Given the description of an element on the screen output the (x, y) to click on. 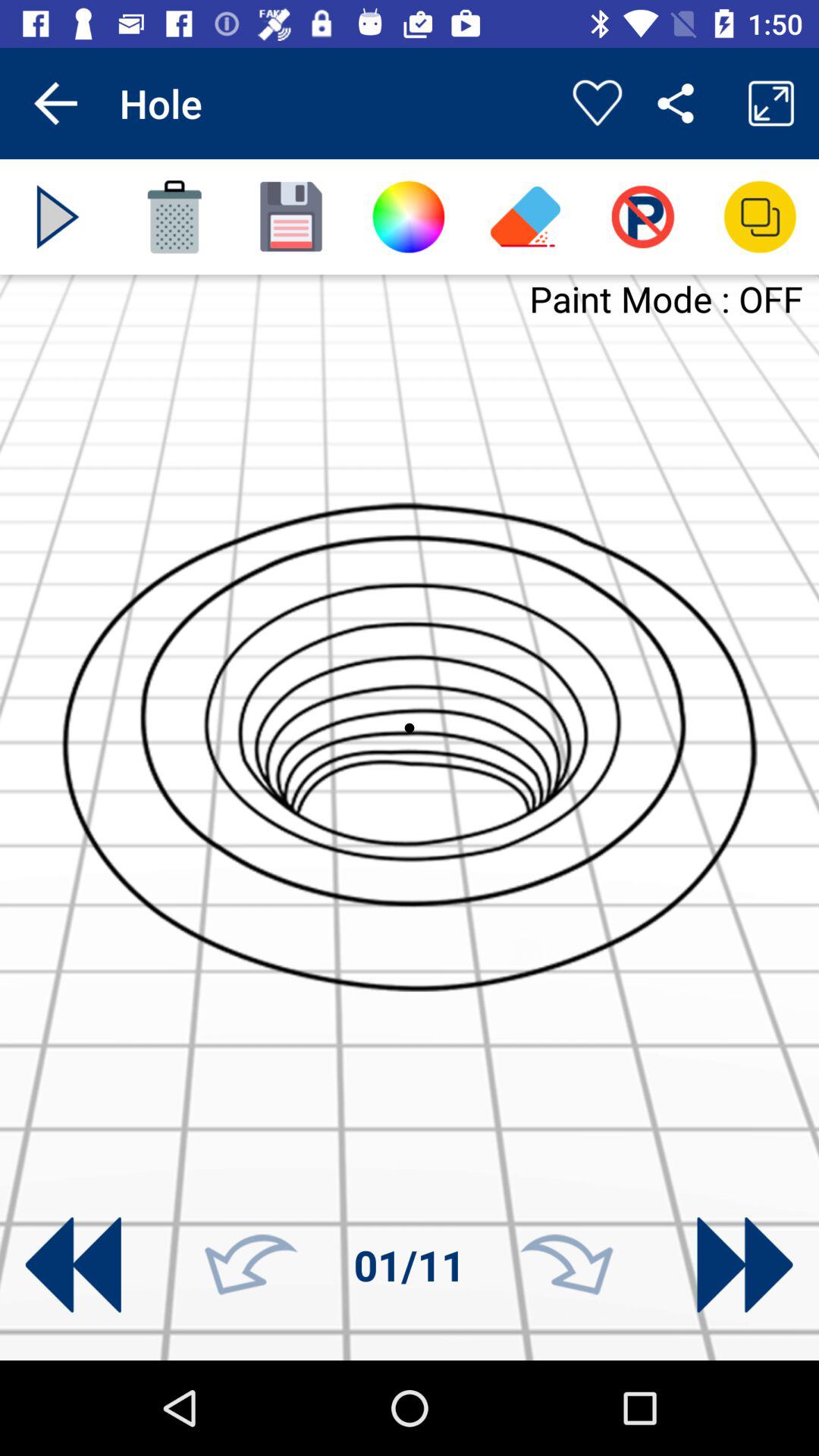
add to favourites (597, 102)
